Given the description of an element on the screen output the (x, y) to click on. 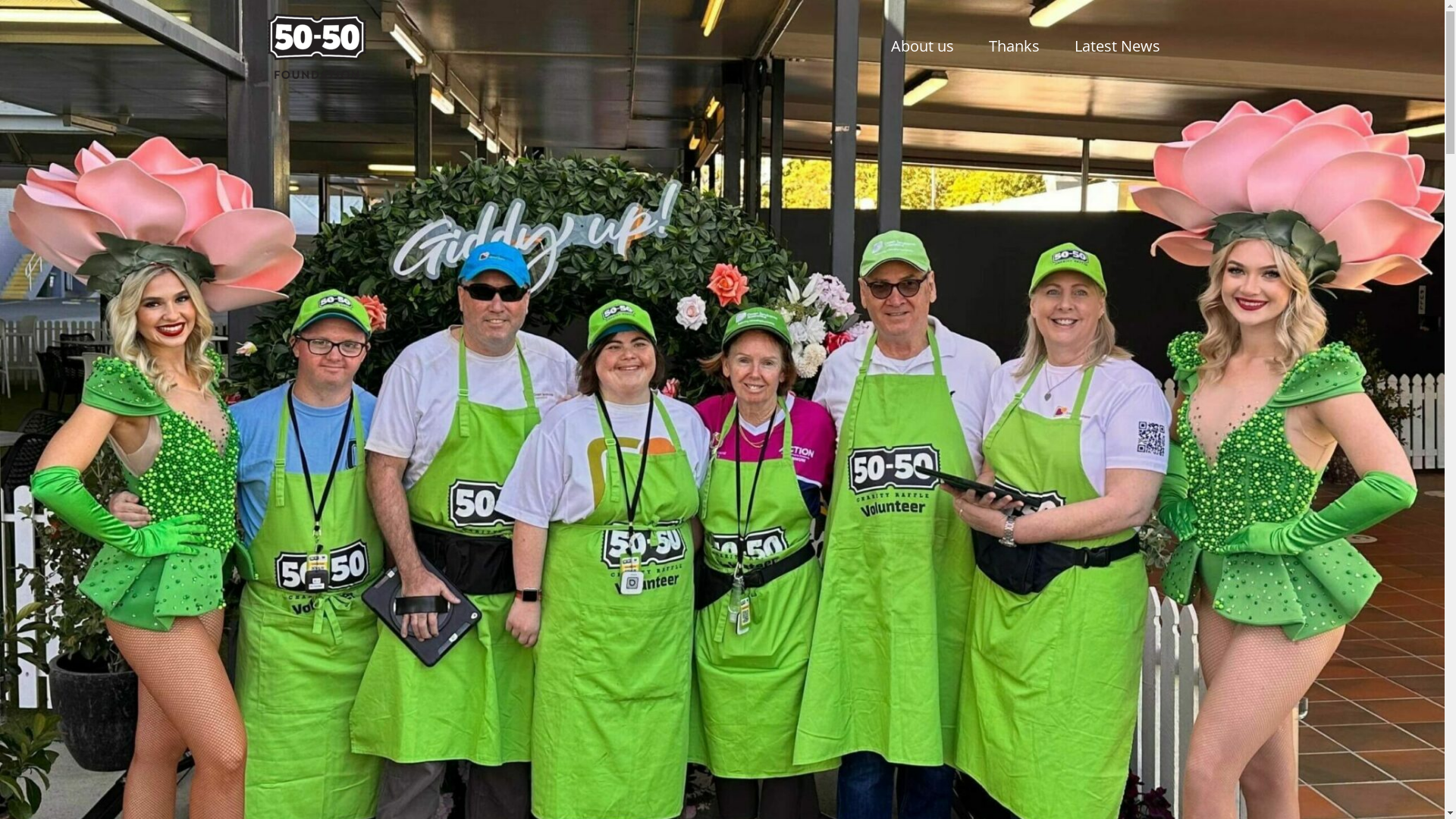
Thanks Element type: text (1013, 46)
About us Element type: text (922, 46)
Latest News Element type: text (1117, 46)
